Given the description of an element on the screen output the (x, y) to click on. 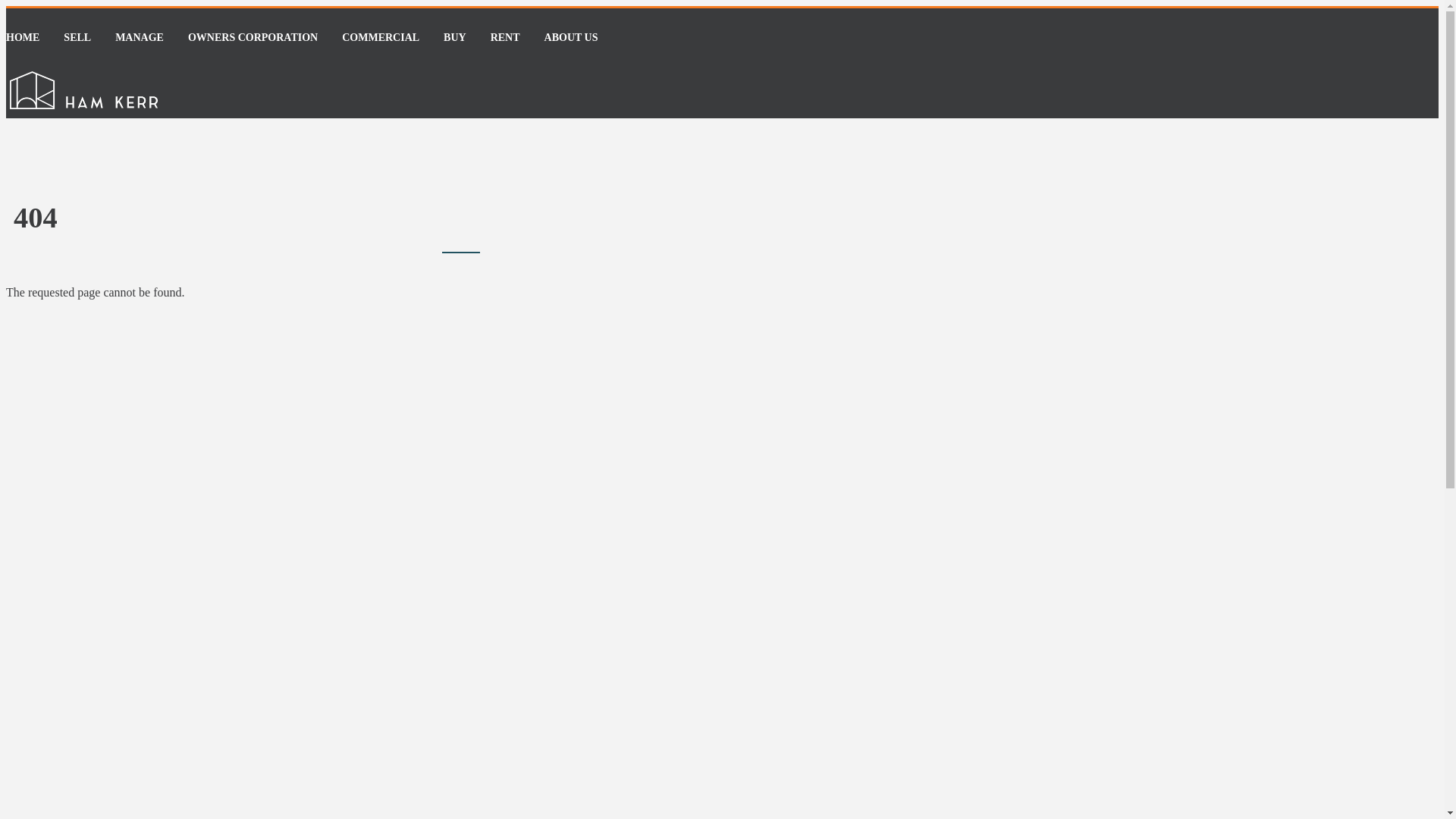
SELL Element type: text (77, 37)
ABOUT US Element type: text (571, 37)
COMMERCIAL Element type: text (380, 37)
RENT Element type: text (505, 37)
HOME Element type: text (22, 37)
OWNERS CORPORATION Element type: text (252, 37)
BUY Element type: text (454, 37)
MANAGE Element type: text (139, 37)
